Given the description of an element on the screen output the (x, y) to click on. 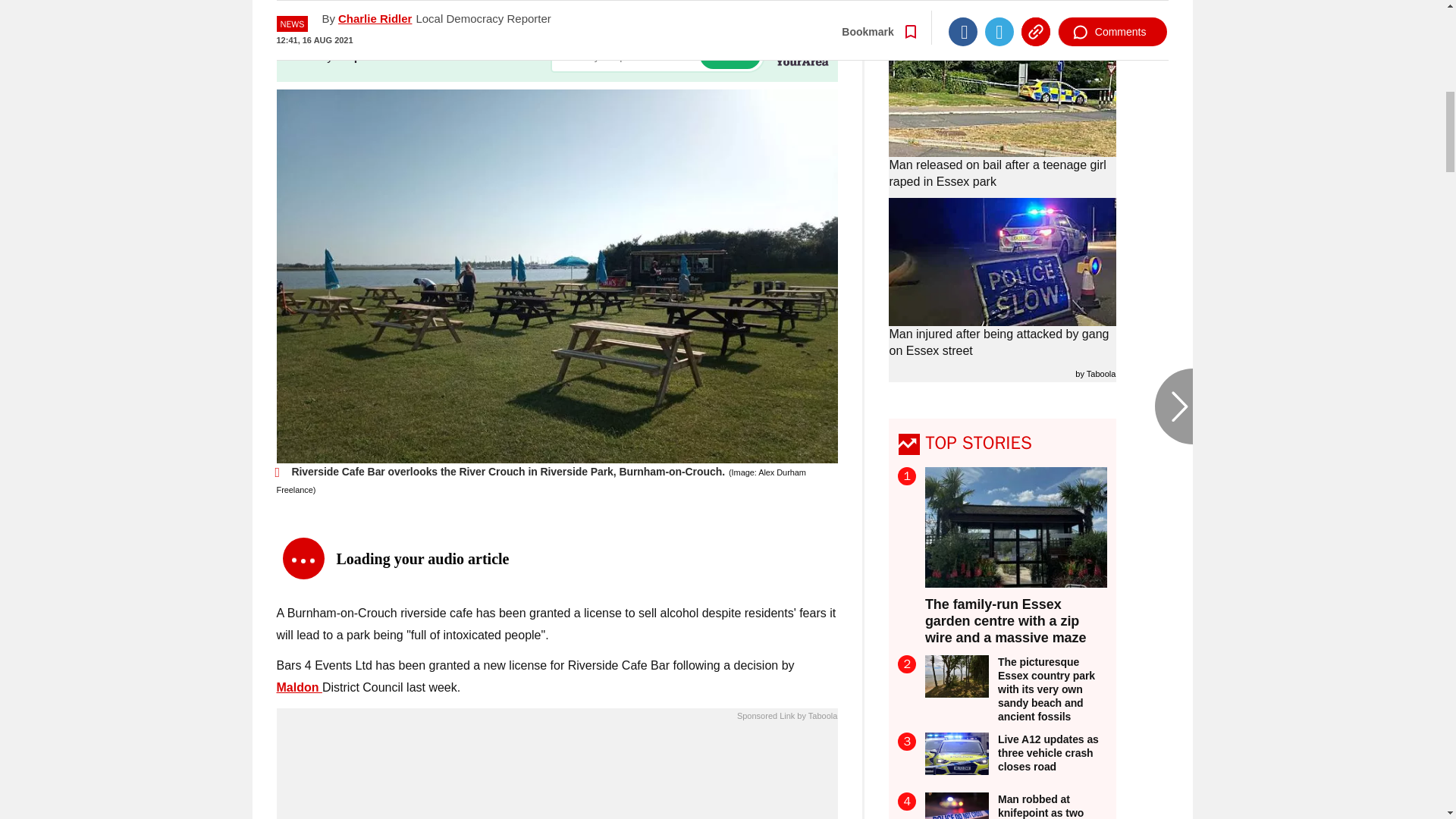
Go (730, 55)
Top 12 Restaurants in Canada and the USA (557, 774)
